Given the description of an element on the screen output the (x, y) to click on. 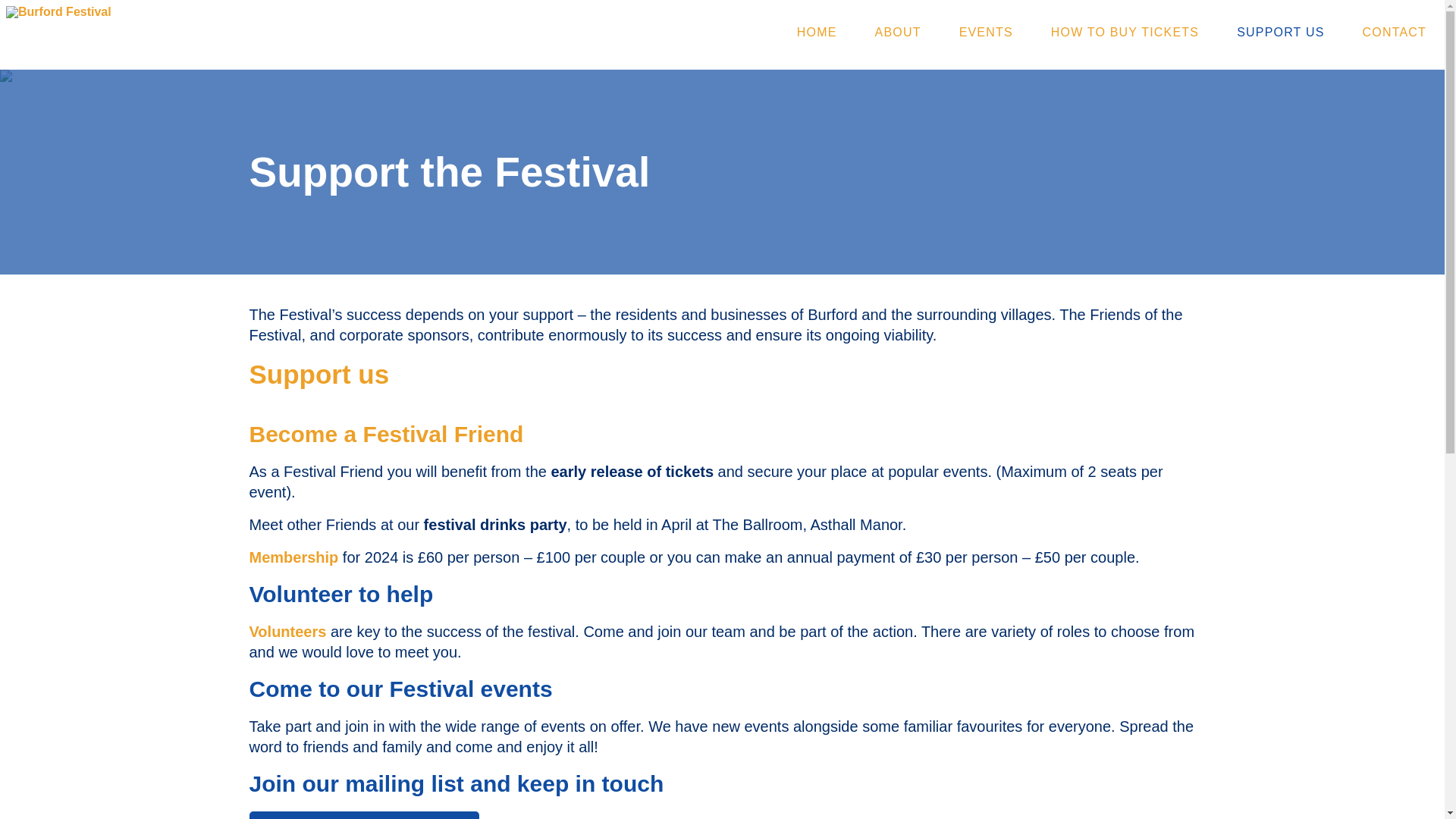
Membership (292, 556)
Become a Festival Friend (385, 433)
EVENTS (986, 31)
CONTACT (1390, 31)
HOME (820, 31)
HOW TO BUY TICKETS (1124, 31)
CLICK HERE TO SIGN UP (363, 815)
ABOUT (898, 31)
Volunteers (287, 631)
SUPPORT US (1279, 31)
